Given the description of an element on the screen output the (x, y) to click on. 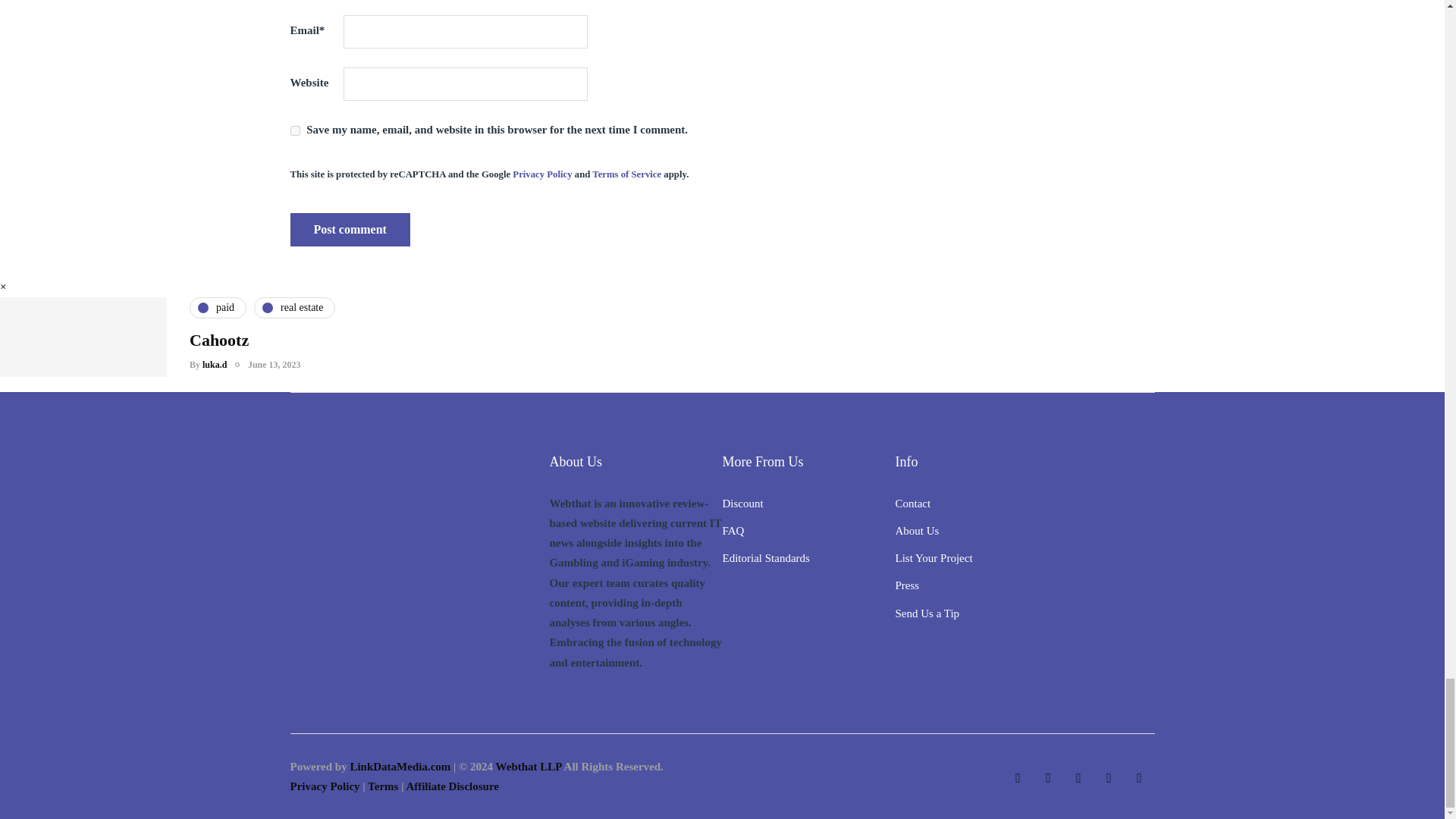
Post comment (349, 229)
yes (294, 130)
